Given the description of an element on the screen output the (x, y) to click on. 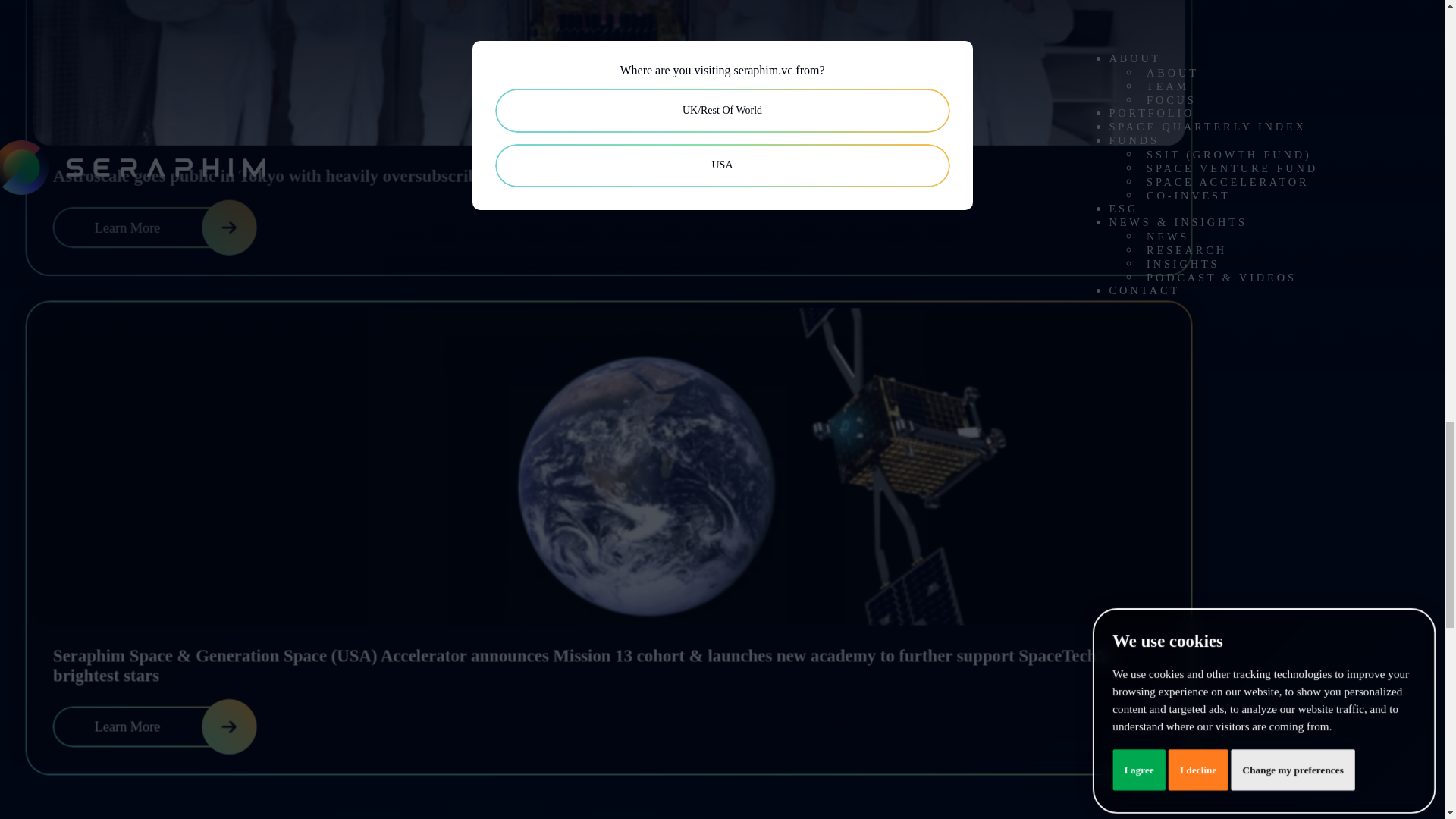
Learn More (159, 228)
Learn More (159, 727)
